Given the description of an element on the screen output the (x, y) to click on. 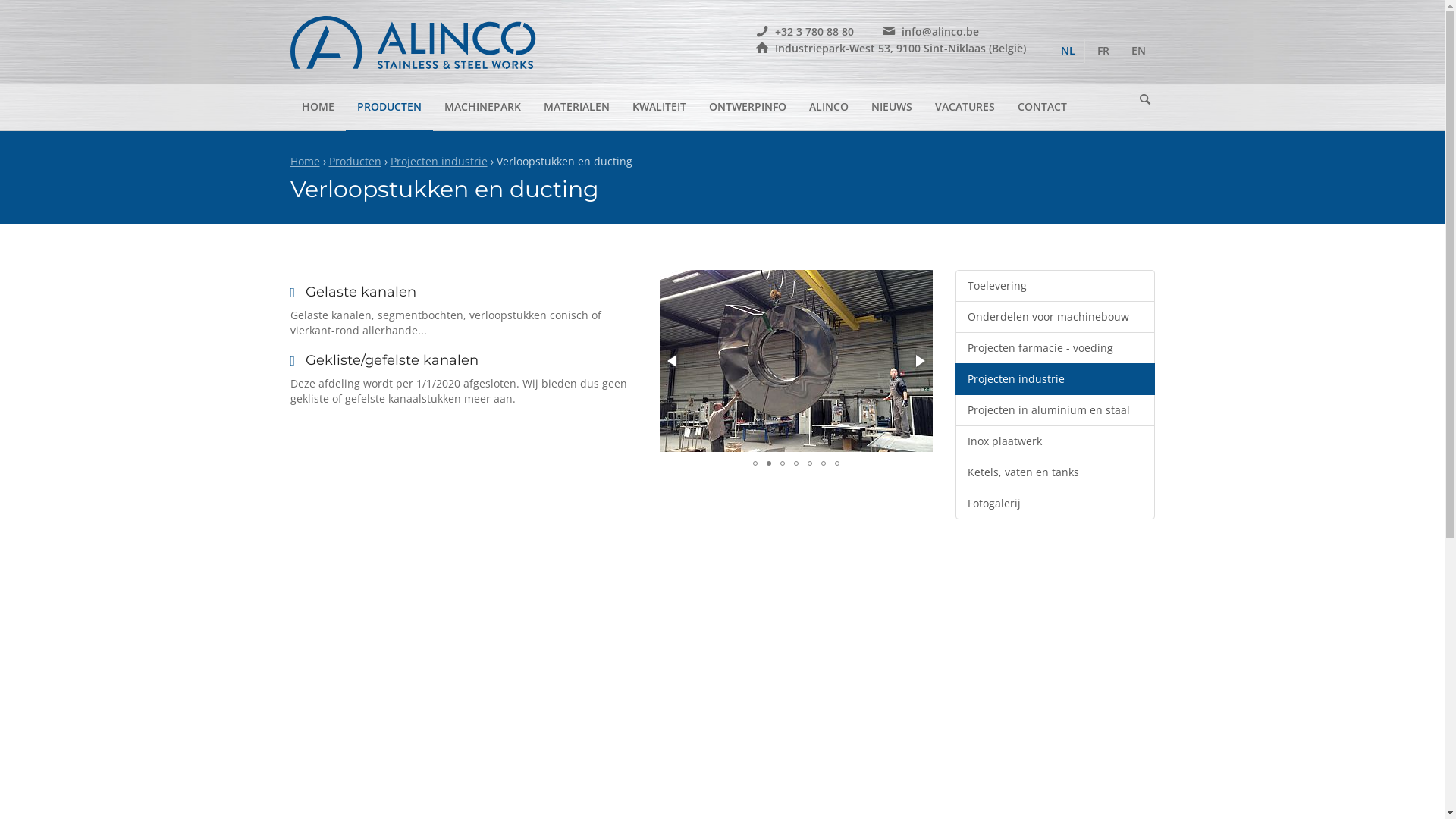
Alinco: Aluminium, Inox en Metaalconstructie Element type: text (415, 42)
PRODUCTEN Element type: text (389, 106)
Inox plaatwerk Element type: text (1054, 441)
EN Element type: text (1138, 50)
KWALITEIT Element type: text (658, 106)
FR Element type: text (1102, 50)
Onderdelen voor machinebouw Element type: text (1054, 316)
Toelevering Element type: text (1054, 285)
Projecten farmacie - voeding Element type: text (1054, 348)
Projecten industrie Element type: text (1054, 379)
Fotogalerij Element type: text (1054, 503)
Producten Element type: text (355, 160)
ALINCO Element type: text (828, 106)
info@alinco.be Element type: text (929, 30)
Ketels, vaten en tanks Element type: text (1054, 472)
MATERIALEN Element type: text (576, 106)
Home Element type: text (304, 160)
ONTWERPINFO Element type: text (747, 106)
MACHINEPARK Element type: text (481, 106)
+32 3 780 88 80 Element type: text (802, 30)
Projecten industrie Element type: text (437, 160)
NIEUWS Element type: text (891, 106)
VACATURES Element type: text (964, 106)
Projecten in aluminium en staal Element type: text (1054, 410)
CONTACT Element type: text (1041, 106)
NL Element type: text (1067, 50)
HOME Element type: text (317, 106)
